Given the description of an element on the screen output the (x, y) to click on. 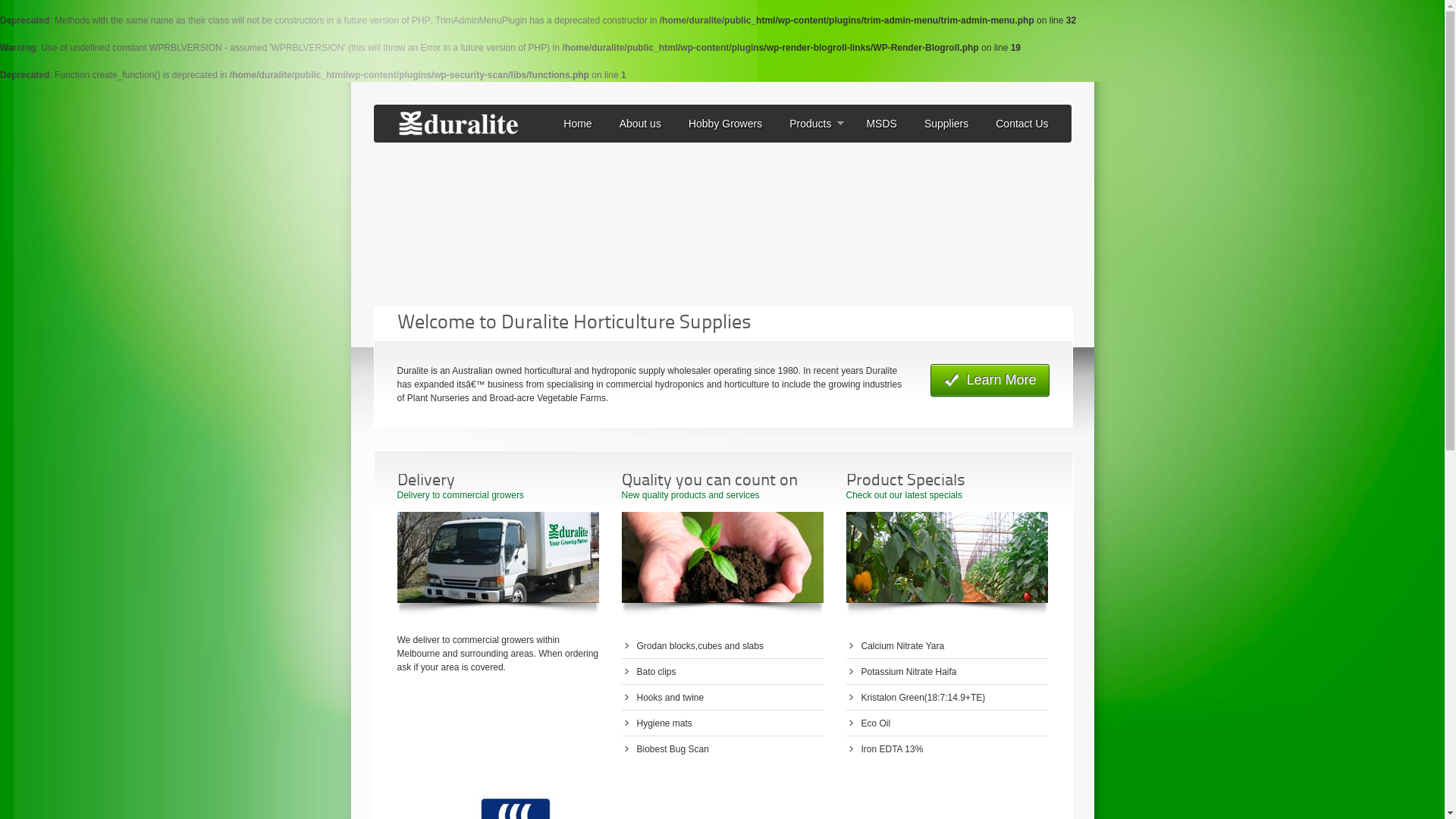
Hobby Growers Element type: text (724, 123)
About us Element type: text (639, 123)
Home Element type: text (577, 123)
Learn More Element type: text (989, 380)
Suppliers Element type: text (946, 123)
MSDS Element type: text (881, 123)
Contact Us Element type: text (1021, 123)
